Given the description of an element on the screen output the (x, y) to click on. 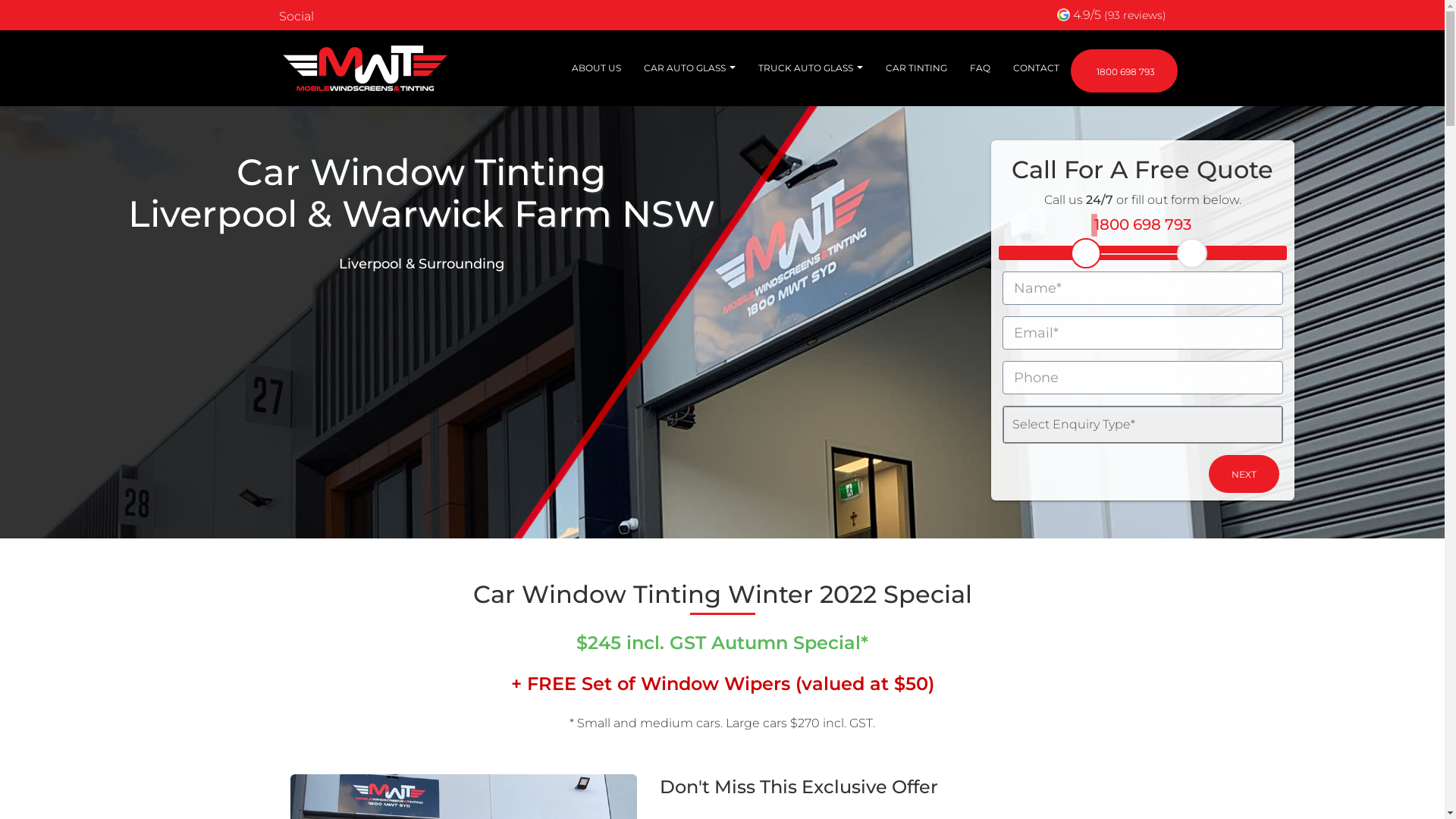
FAQ Element type: text (979, 68)
ABOUT US Element type: text (595, 68)
CONTACT Element type: text (1035, 68)
NEXT Element type: text (1243, 473)
Go to Home Page Element type: hover (365, 67)
CAR TINTING Element type: text (915, 68)
TRUCK AUTO GLASS Element type: text (809, 68)
1800 698 793 Element type: text (1123, 70)
CAR AUTO GLASS Element type: text (689, 68)
1800 698 793 Element type: text (1142, 224)
